Given the description of an element on the screen output the (x, y) to click on. 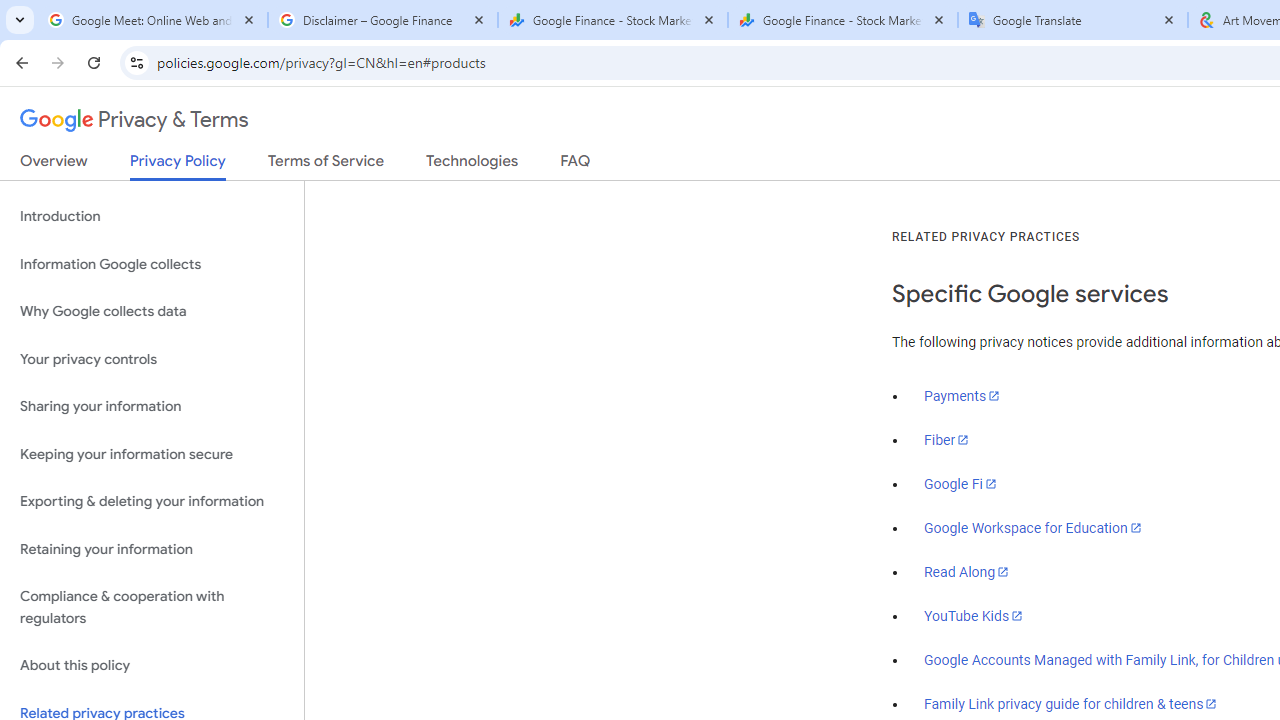
Google Workspace for Education (1032, 528)
YouTube Kids (974, 615)
Keeping your information secure (152, 453)
Why Google collects data (152, 312)
